Given the description of an element on the screen output the (x, y) to click on. 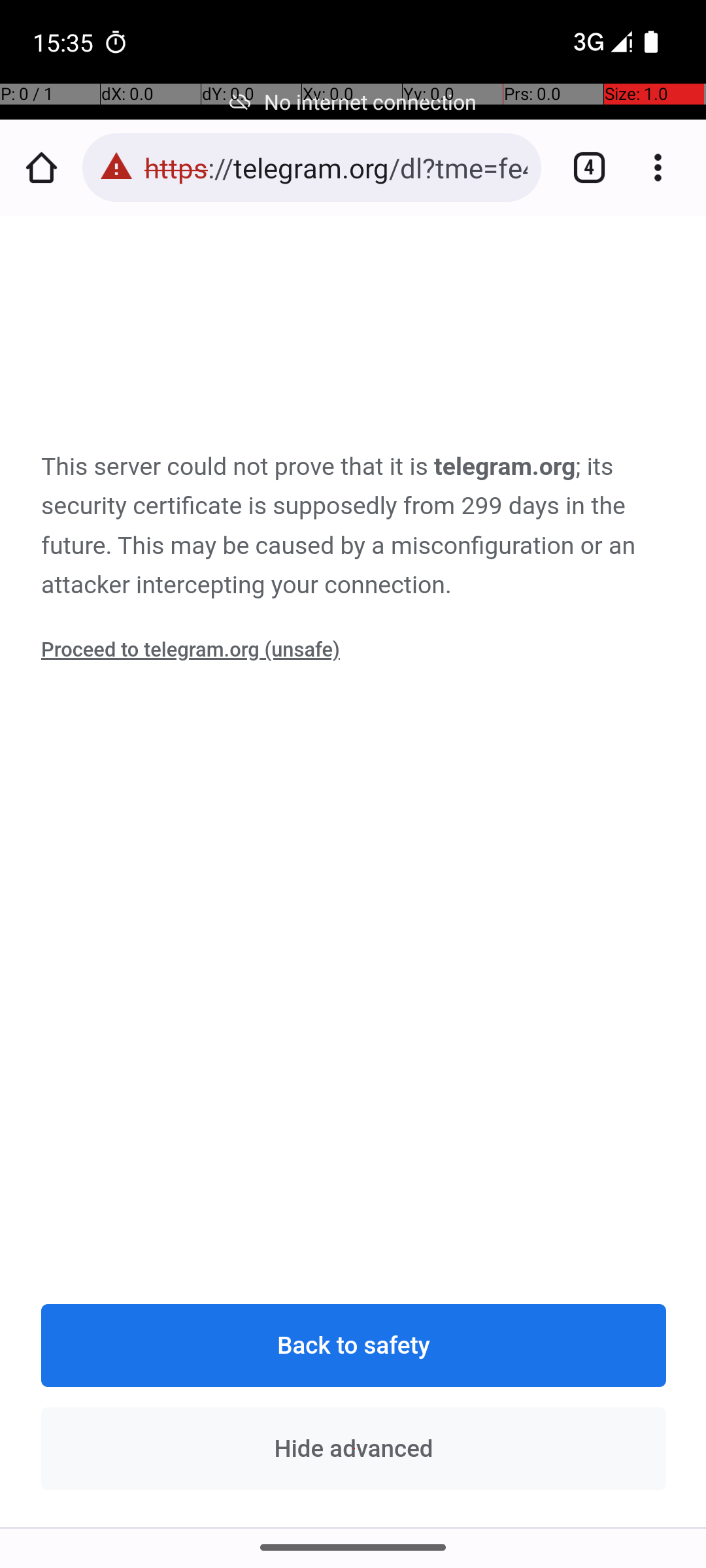
https://telegram.org/dl?tme=fe47b73173689e6e6a_7623181040532428218 Element type: android.widget.EditText (335, 167)
Hide advanced Element type: android.widget.Button (354, 1448)
This server could not prove that it is telegram.org; its security certificate is supposedly from 299 days in the future. This may be caused by a misconfiguration or an attacker intercepting your connection. Element type: android.widget.TextView (354, 526)
Proceed to telegram.org (unsafe) Element type: android.view.View (191, 650)
